Given the description of an element on the screen output the (x, y) to click on. 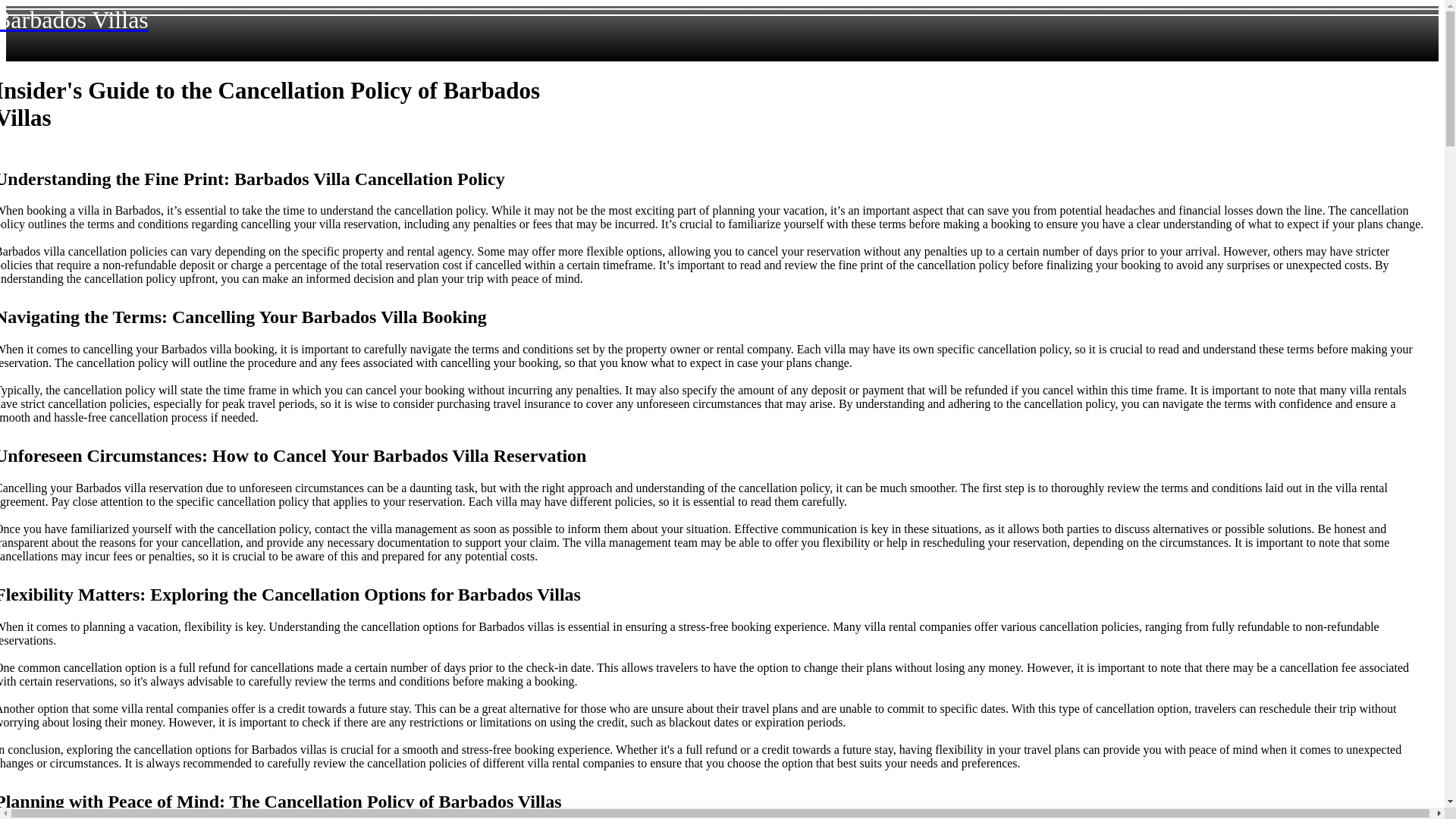
Barbados Villas (74, 19)
